Given the description of an element on the screen output the (x, y) to click on. 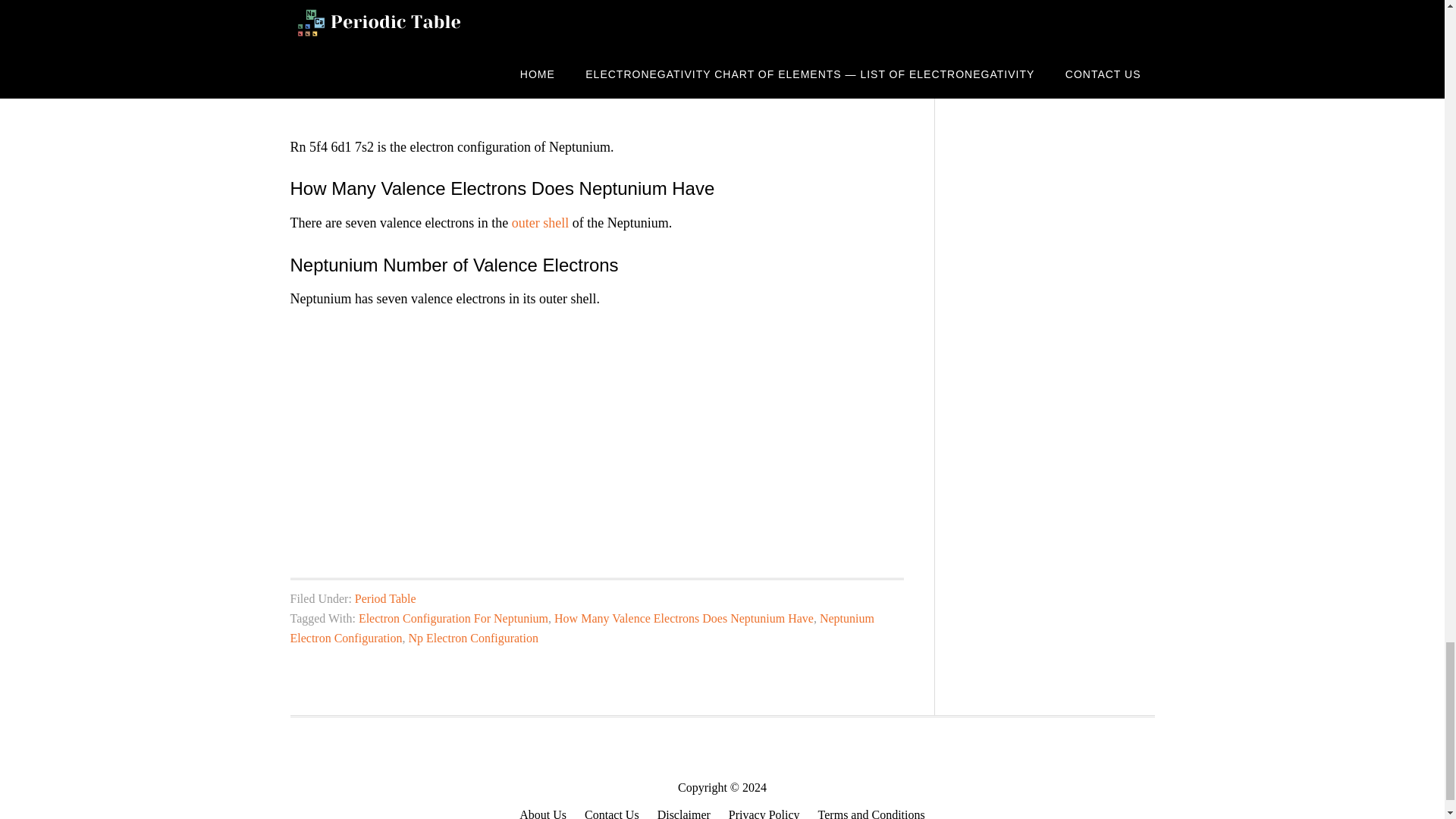
Period Table (385, 598)
How Many Valence Electrons Does Neptunium Have (683, 617)
Electron Configuration For Neptunium (453, 617)
outer shell (540, 222)
Neptunium Electron Configuration (581, 627)
Np Electron Configuration (472, 637)
